Given the description of an element on the screen output the (x, y) to click on. 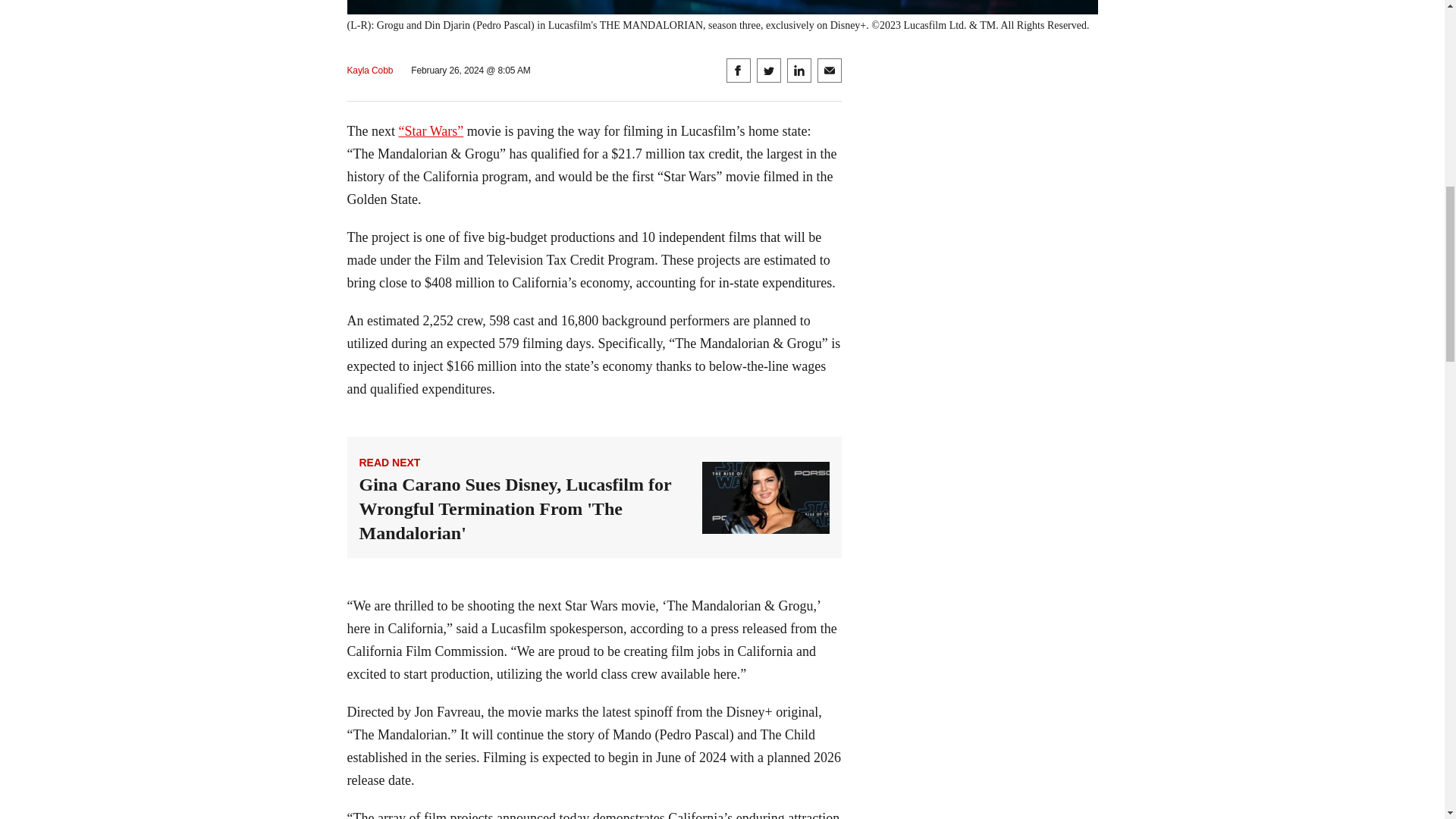
Posts by Kayla Cobb (370, 70)
